Given the description of an element on the screen output the (x, y) to click on. 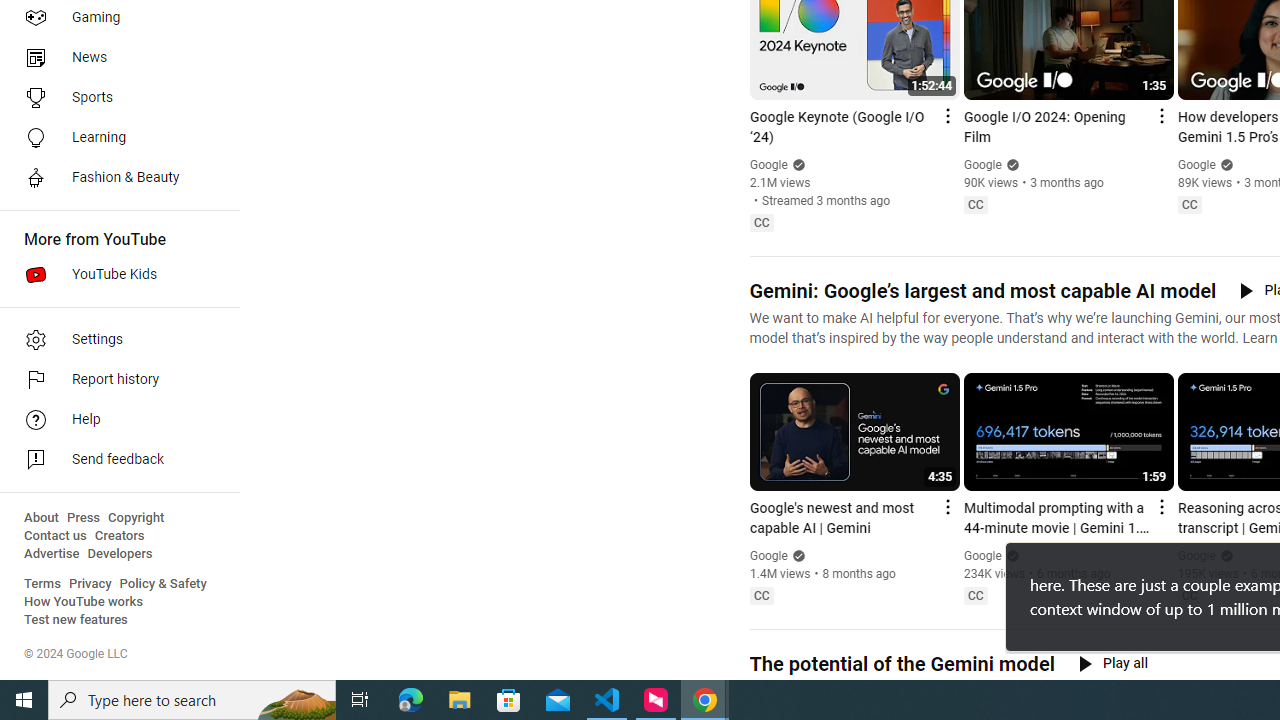
YouTube Kids (113, 274)
Google (1197, 556)
The potential of the Gemini model (901, 664)
Copyright (136, 518)
News (113, 57)
Sports (113, 97)
Closed captions (1189, 595)
Verified (1223, 555)
Privacy (89, 584)
Creators (118, 536)
Fashion & Beauty (113, 177)
How YouTube works (83, 602)
Developers (120, 554)
Test new features (76, 620)
